Given the description of an element on the screen output the (x, y) to click on. 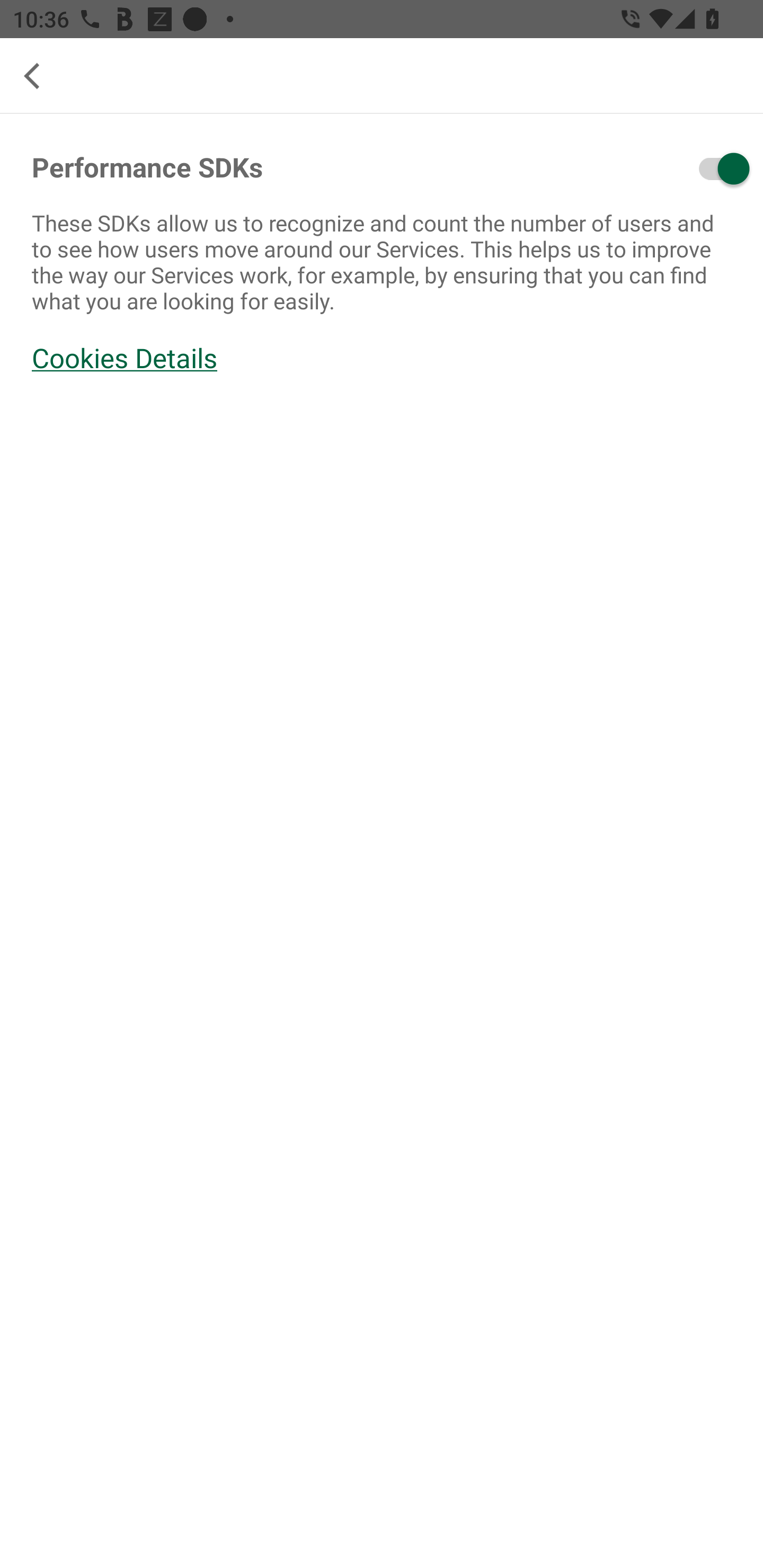
Back (39, 75)
Consent (671, 168)
Cookies Details (381, 358)
